Given the description of an element on the screen output the (x, y) to click on. 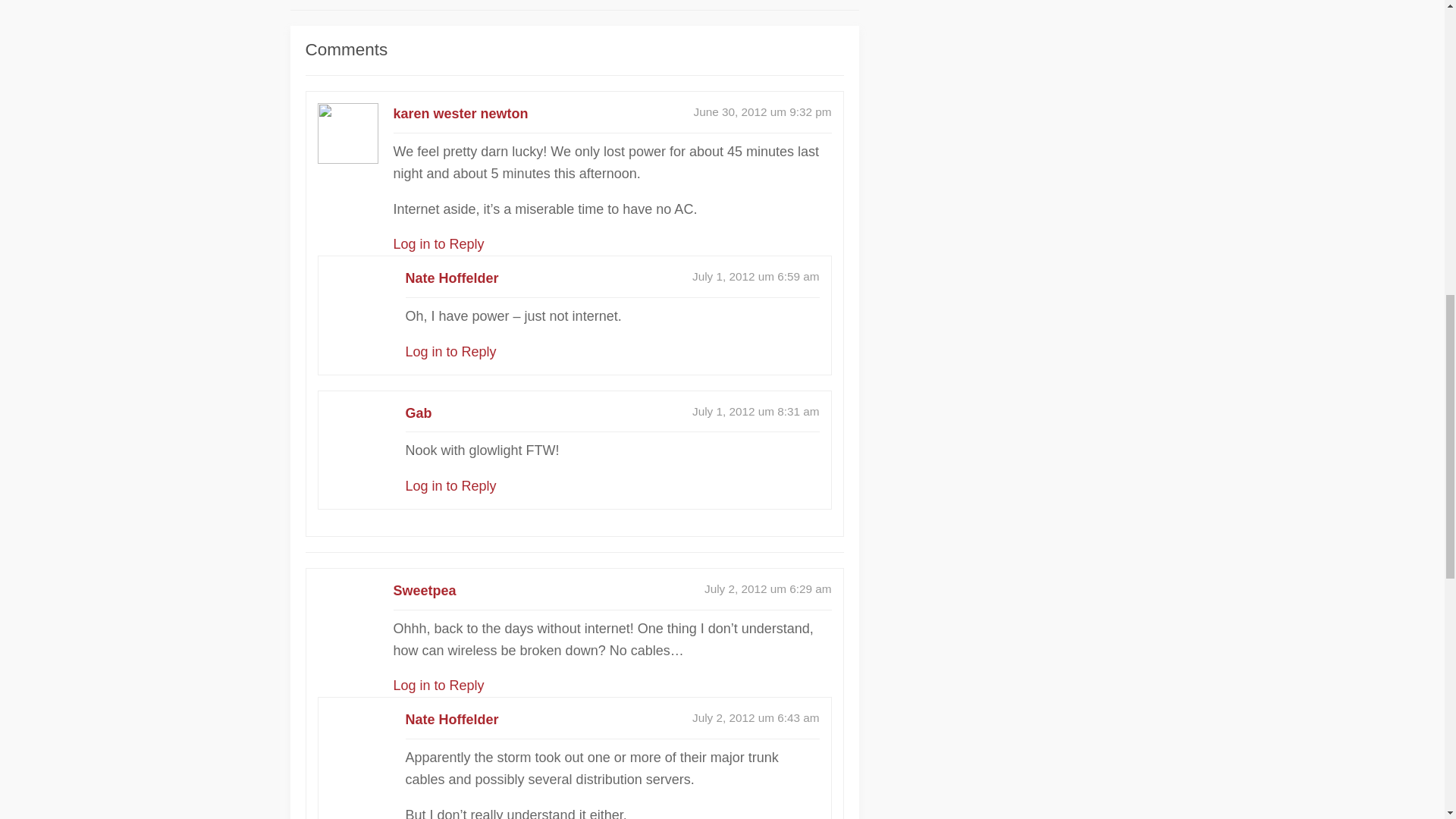
Log in to Reply (438, 243)
Log in to Reply (450, 351)
Log in to Reply (450, 485)
Log in to Reply (438, 685)
